Given the description of an element on the screen output the (x, y) to click on. 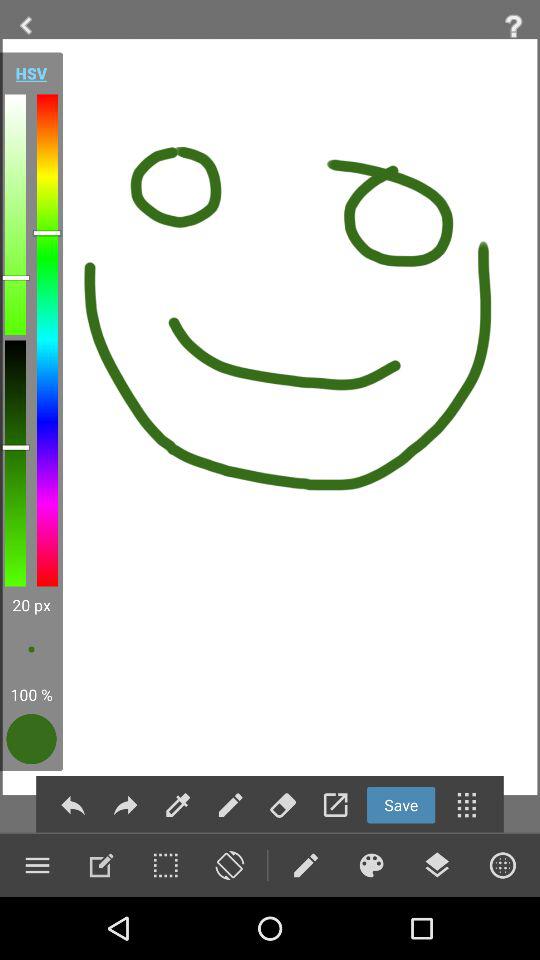
click to more option (466, 804)
